Given the description of an element on the screen output the (x, y) to click on. 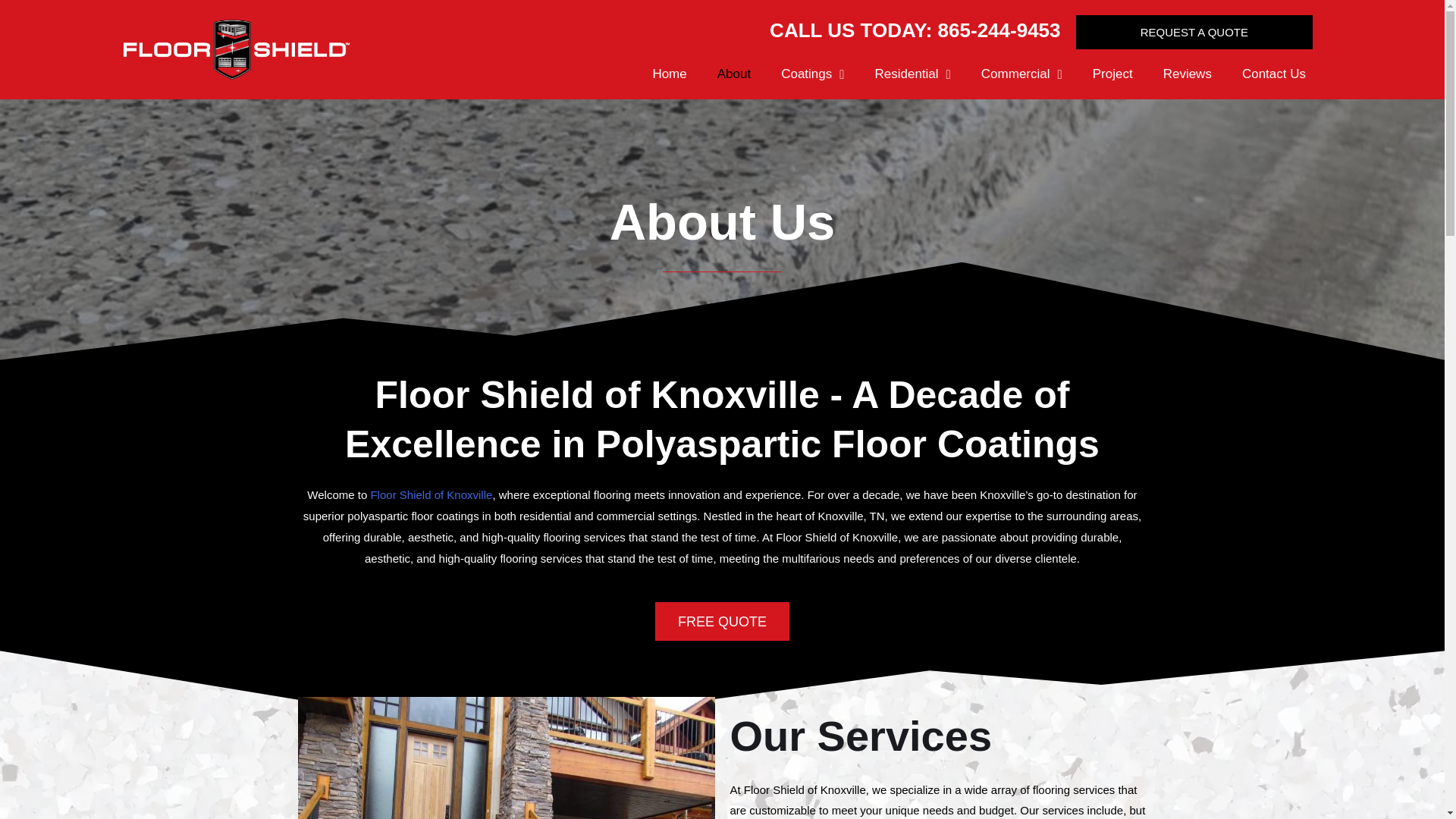
Coatings (812, 73)
About (733, 73)
Home (669, 73)
REQUEST A QUOTE (1194, 32)
Residential (913, 73)
Project (1112, 73)
Reviews (1187, 73)
Contact Us (1273, 73)
CALL US TODAY: 865-244-9453 (914, 30)
Commercial (1021, 73)
